Given the description of an element on the screen output the (x, y) to click on. 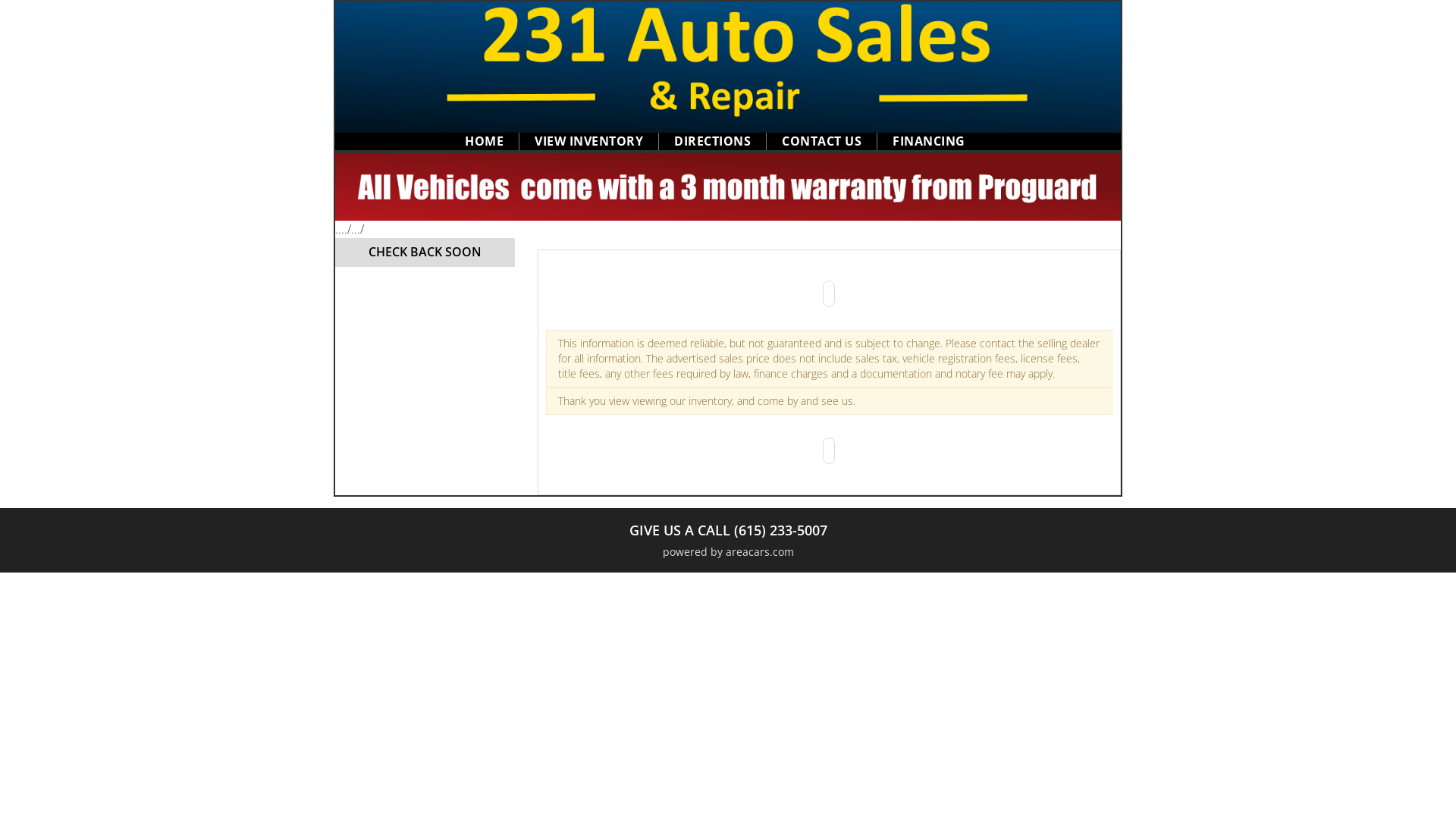
FINANCING Element type: text (928, 140)
231 Auto Sales & Repair Inc a Quality Used Car Dealer Element type: hover (727, 66)
231 Auto Sales & Repair Inc a Quality Used Car Dealer Element type: hover (727, 187)
HOME Element type: text (483, 140)
CONTACT US Element type: text (821, 140)
VIEW INVENTORY Element type: text (588, 140)
DIRECTIONS Element type: text (711, 140)
